Given the description of an element on the screen output the (x, y) to click on. 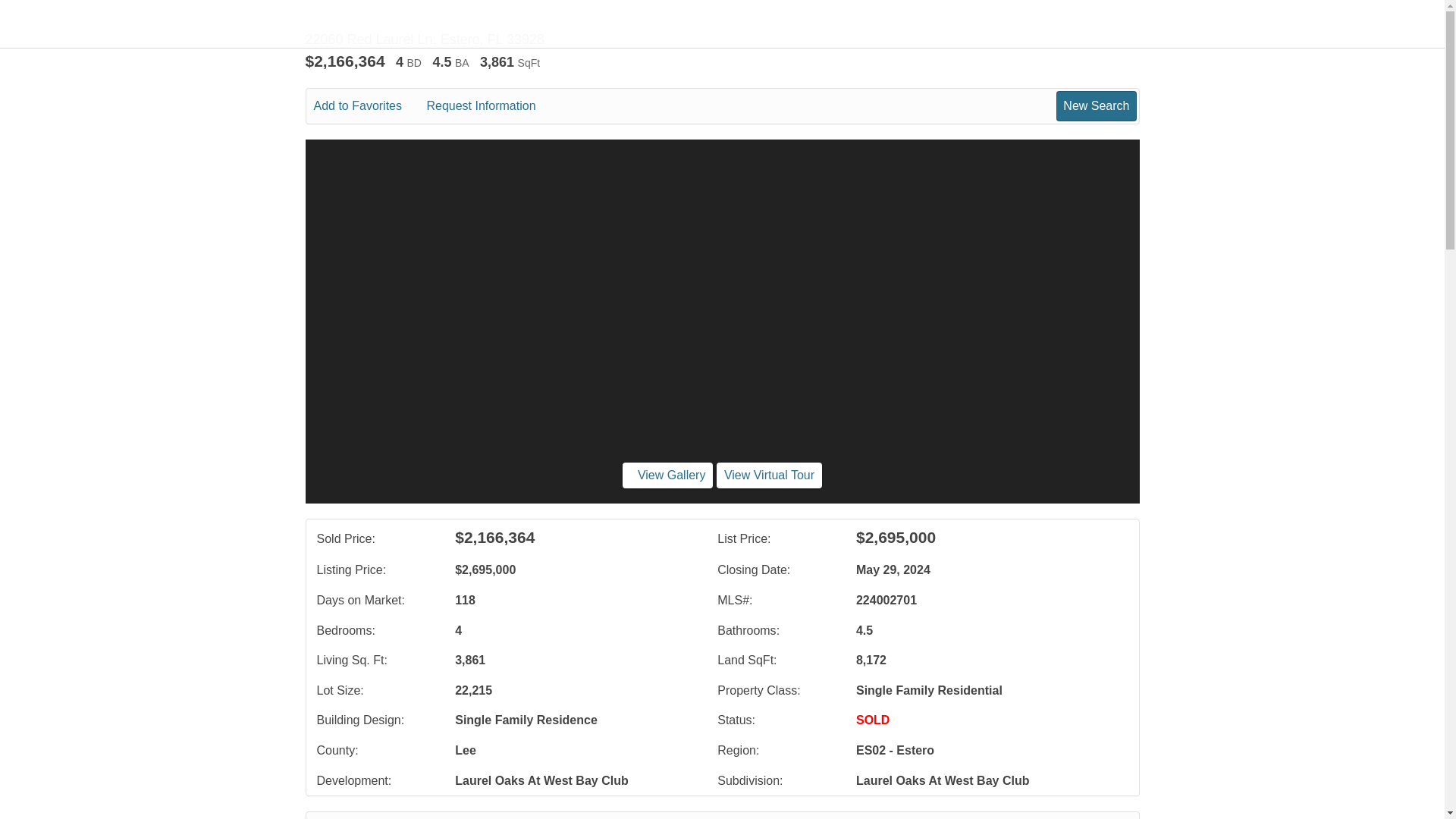
View Virtual Tour (769, 475)
New Search (1096, 105)
Add to Favorites (368, 106)
New Search (1094, 818)
Call Us (427, 818)
View Virtual Tour (769, 474)
View Gallery (668, 474)
Share (583, 818)
Request Information (491, 106)
View Gallery (668, 475)
